Given the description of an element on the screen output the (x, y) to click on. 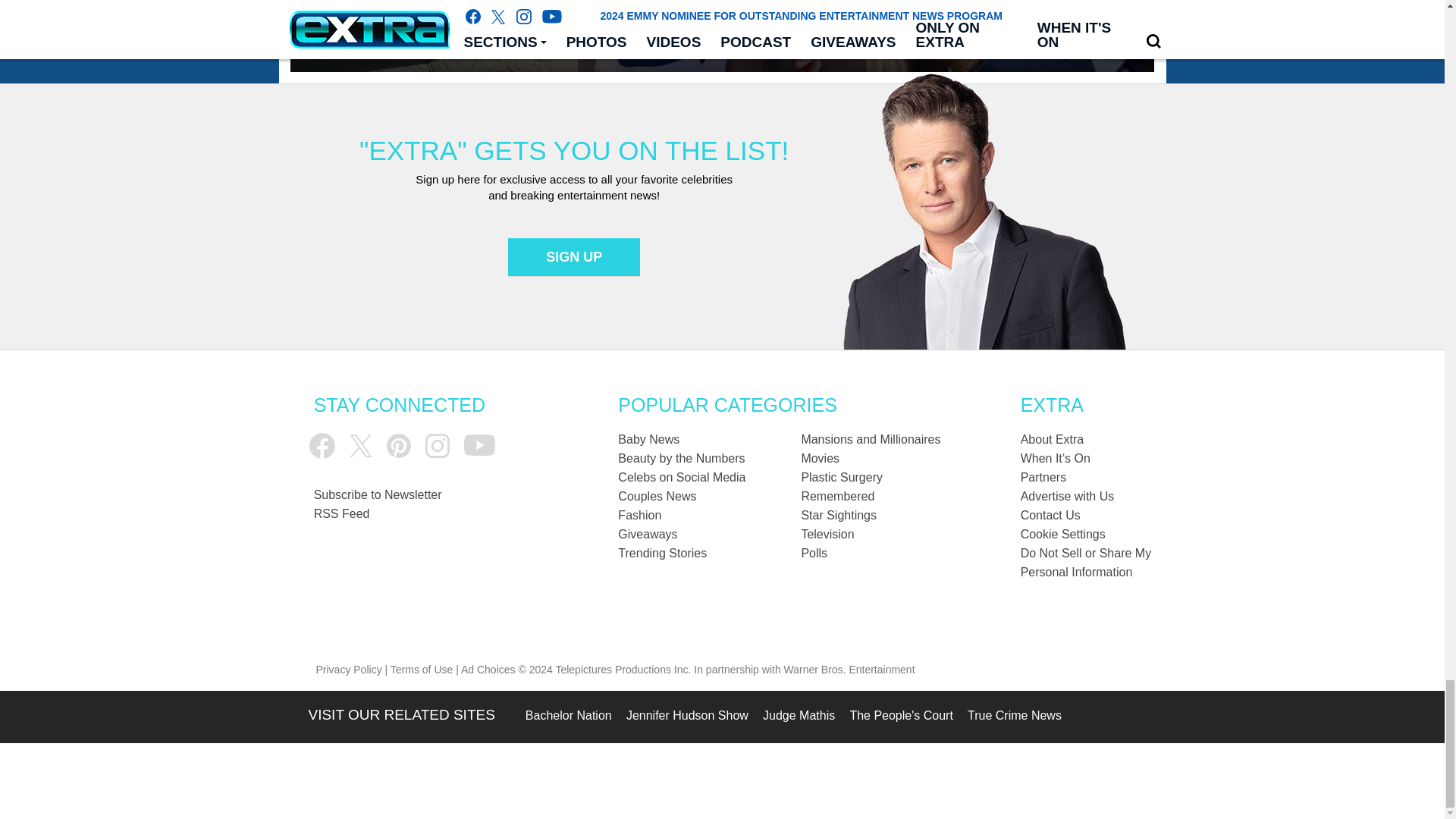
Twitter (360, 445)
YouTube (479, 445)
Pinterest (398, 445)
Instagram (437, 445)
Facebook (321, 445)
